Given the description of an element on the screen output the (x, y) to click on. 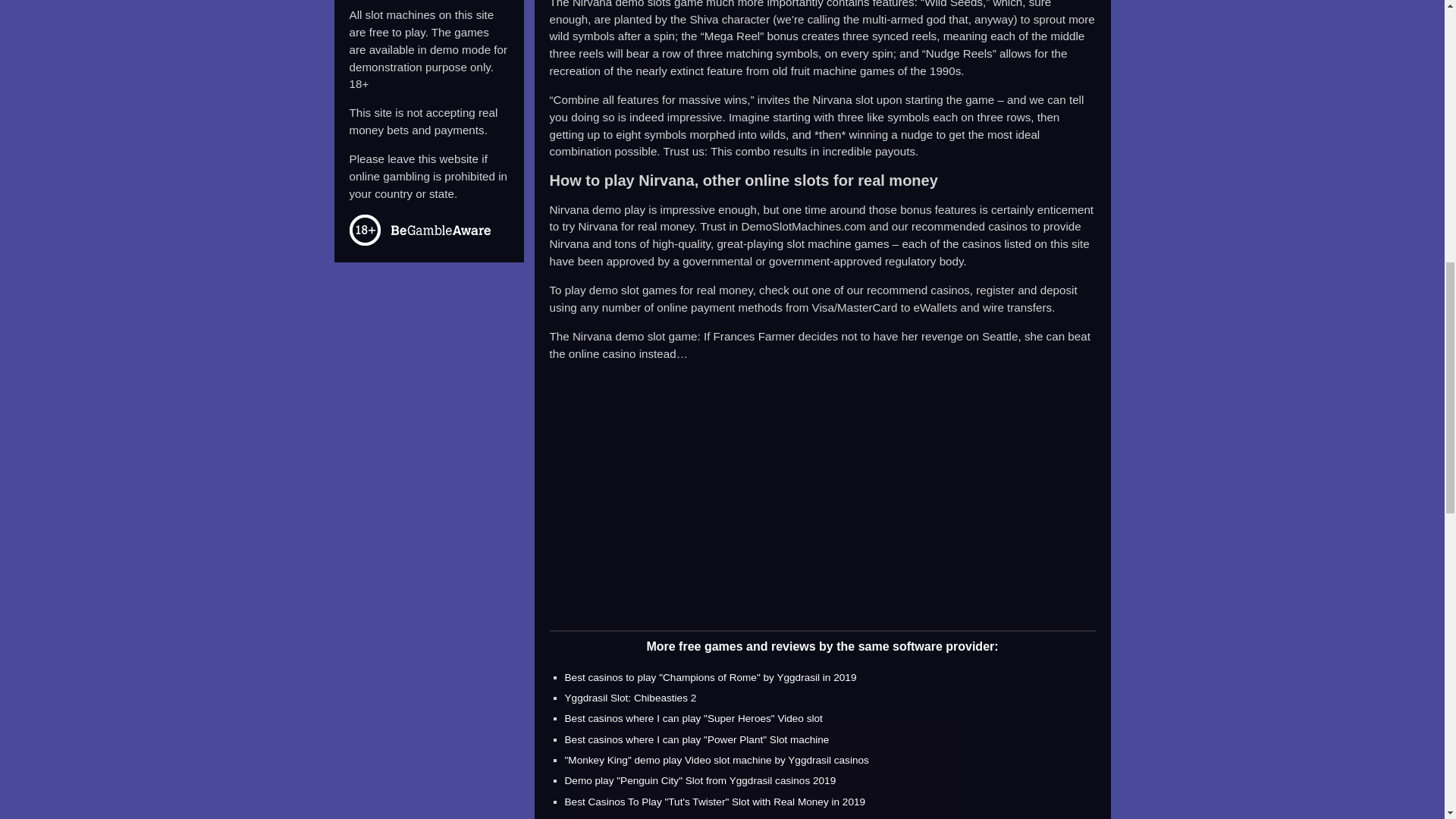
Best casinos where I can play "Super Heroes" Video slot (693, 717)
Demo play "Penguin City" Slot from Yggdrasil casinos 2019 (699, 780)
Best casinos where I can play "Power Plant" Slot machine (696, 739)
Yggdrasil Slot: Chibeasties 2 (629, 697)
